Given the description of an element on the screen output the (x, y) to click on. 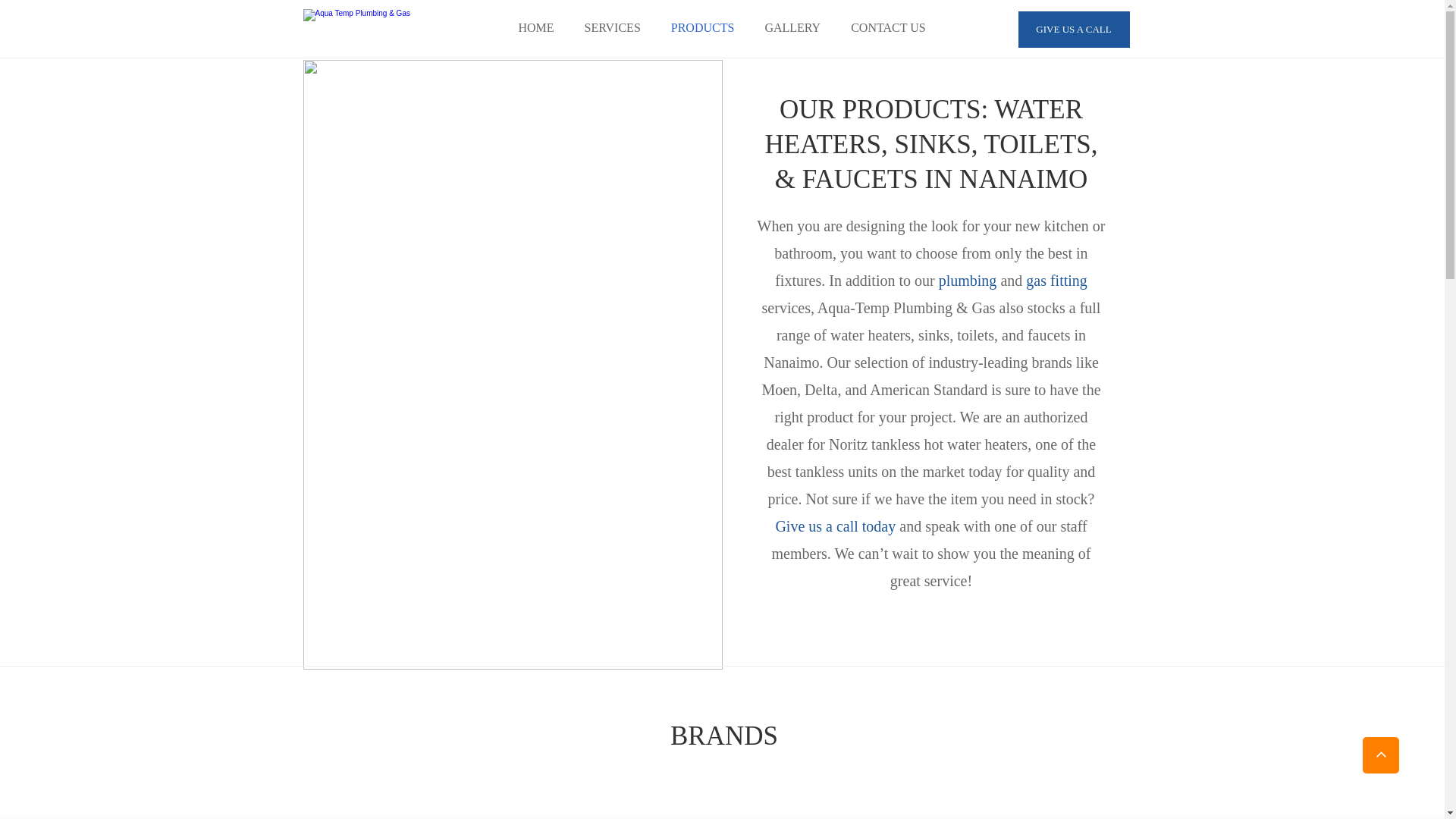
gas fitting Element type: text (1054, 280)
Give us a call today Element type: text (835, 525)
plumbing Element type: text (966, 280)
CONTACT US Element type: text (887, 28)
GIVE US A CALL Element type: text (1073, 29)
GALLERY Element type: text (792, 28)
PRODUCTS Element type: text (702, 28)
HOME Element type: text (535, 28)
